Given the description of an element on the screen output the (x, y) to click on. 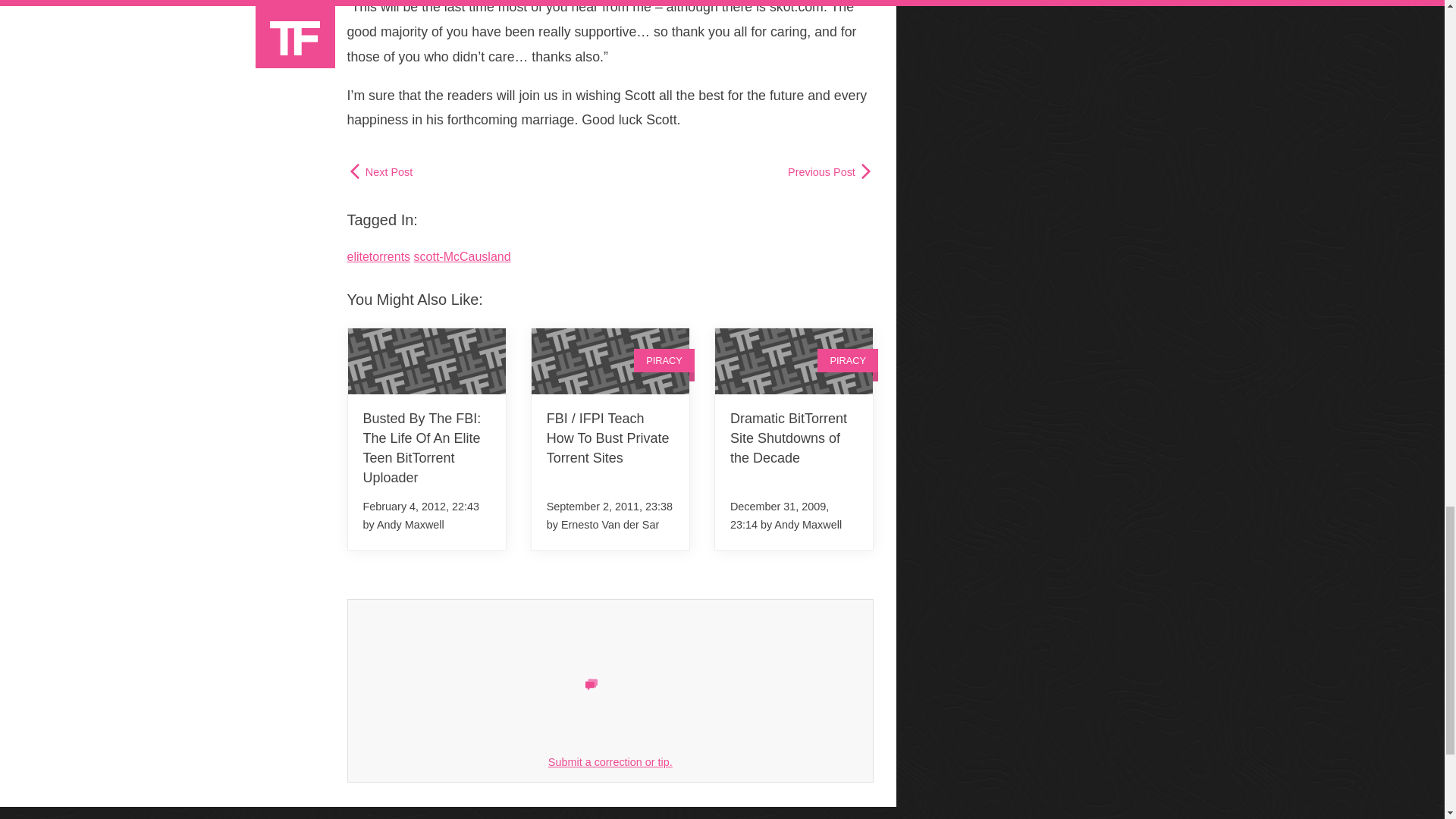
Next Post (380, 171)
Previous Post (830, 171)
scott-McCausland (462, 256)
elitetorrents (378, 256)
Submit a correction or tip. (610, 761)
